Given the description of an element on the screen output the (x, y) to click on. 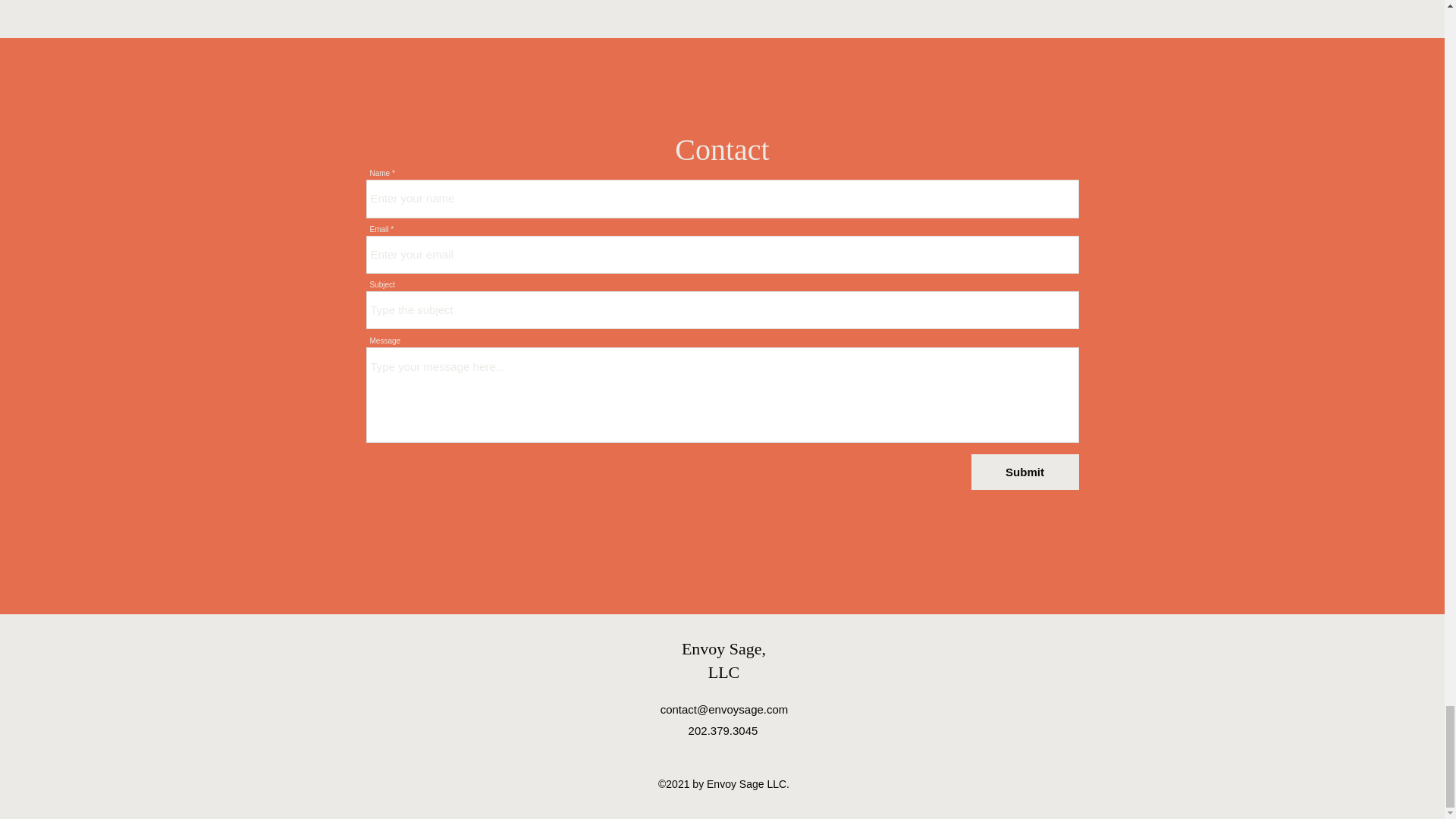
Envoy Sage, LLC (723, 660)
Submit (1024, 471)
